Given the description of an element on the screen output the (x, y) to click on. 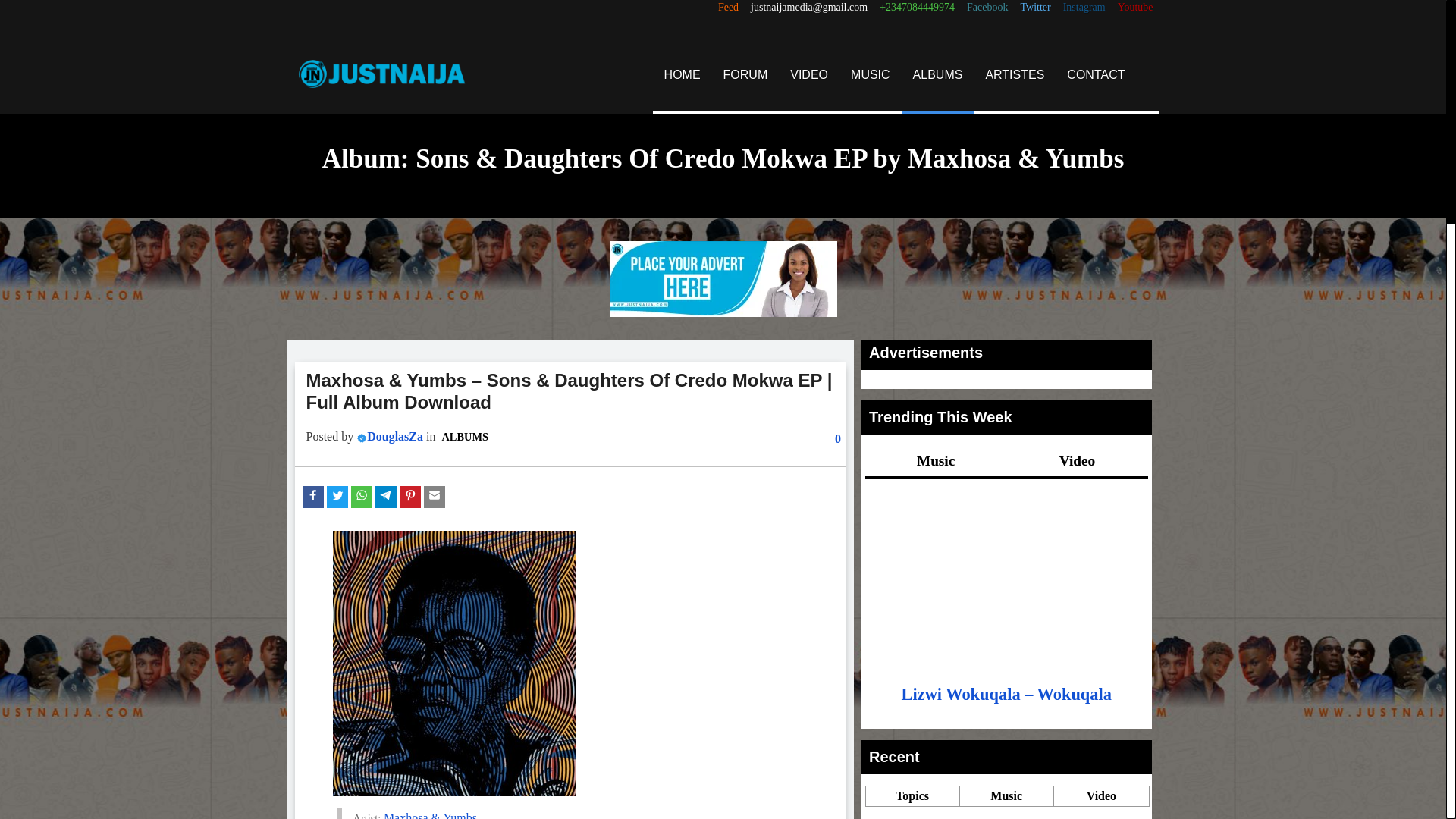
Twitter (1034, 7)
FORUM (744, 74)
Instagram (1083, 7)
Feed (727, 7)
Facebook (986, 7)
Youtube (1135, 7)
